Given the description of an element on the screen output the (x, y) to click on. 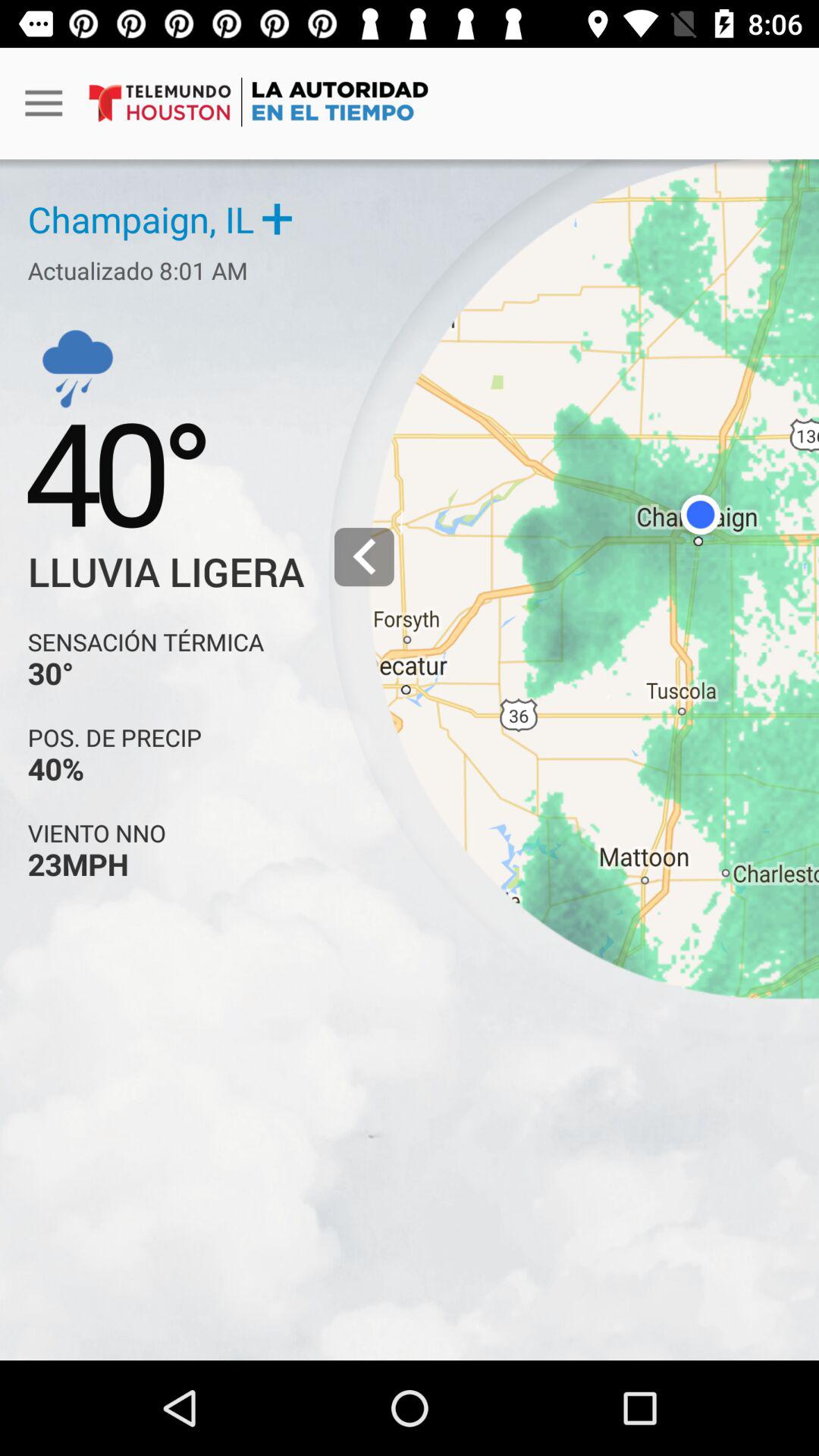
click on champaign il  (159, 219)
click the left arrow icon right to lluvia ligera (363, 557)
